Given the description of an element on the screen output the (x, y) to click on. 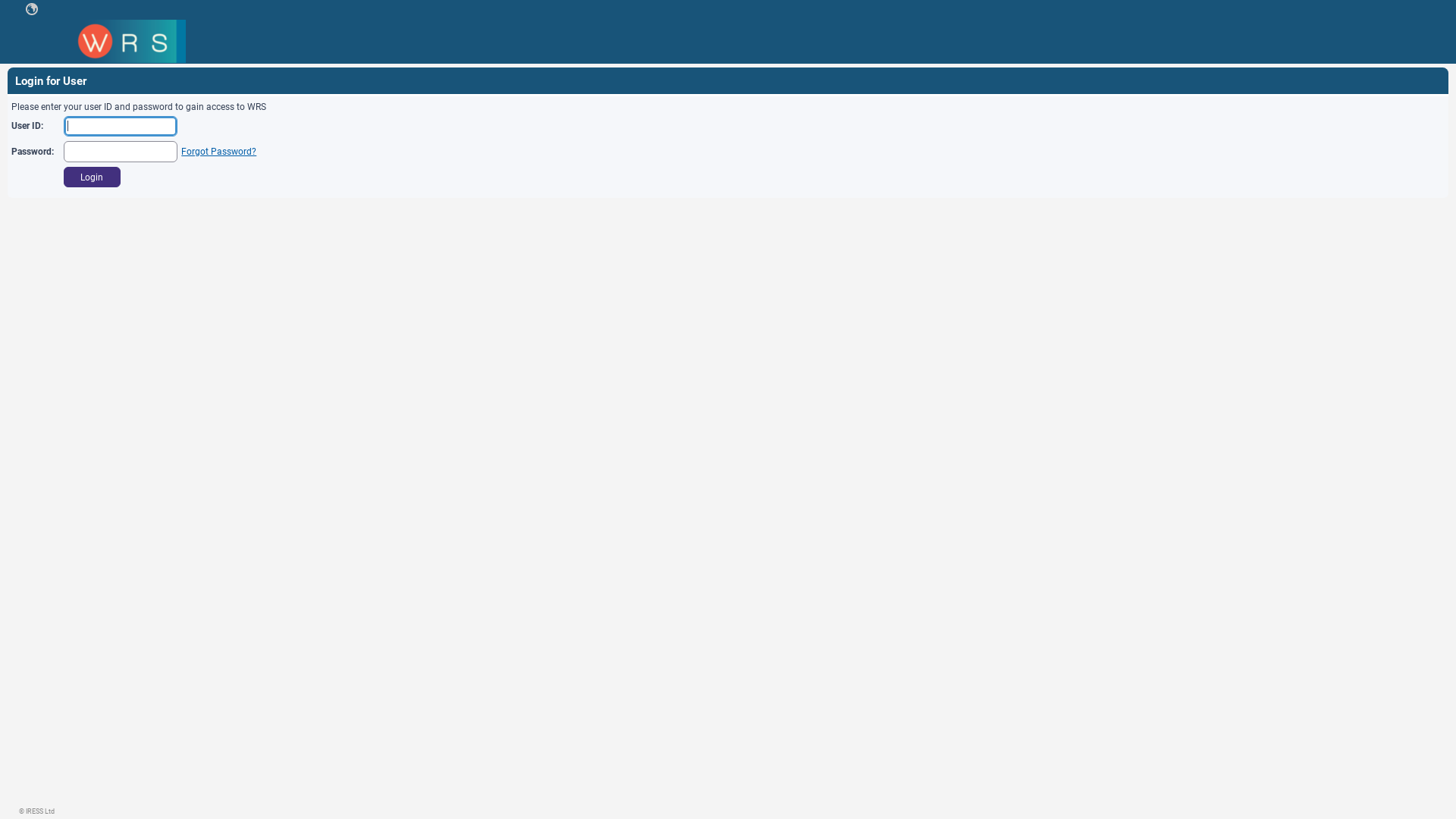
  Element type: text (31, 9)
Login Element type: text (91, 177)
Forgot Password? Element type: text (218, 151)
